Given the description of an element on the screen output the (x, y) to click on. 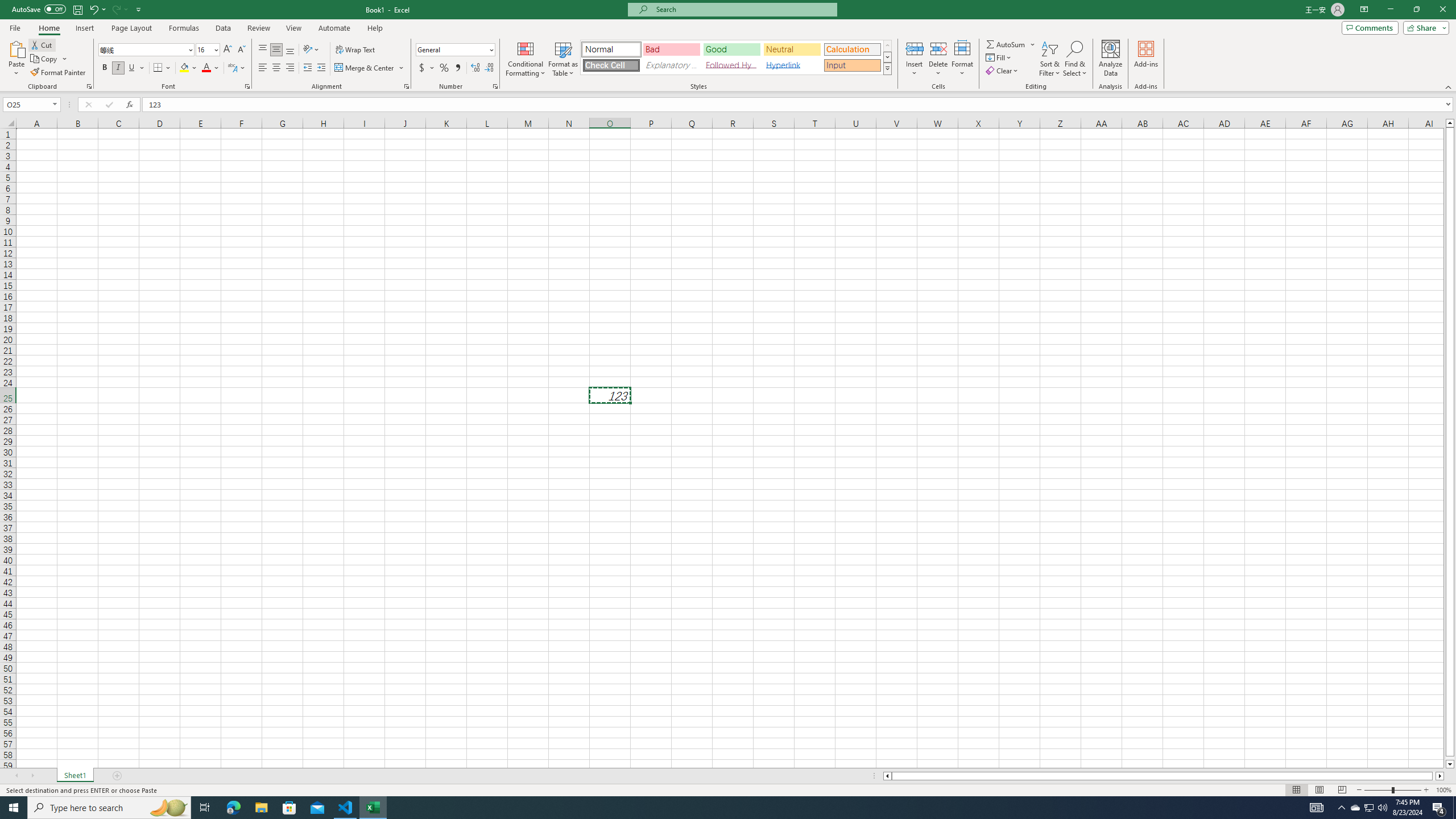
Center (276, 67)
Bottom Border (157, 67)
Sum (1006, 44)
Format (962, 58)
Align Left (262, 67)
Percent Style (443, 67)
Format as Table (563, 58)
